Given the description of an element on the screen output the (x, y) to click on. 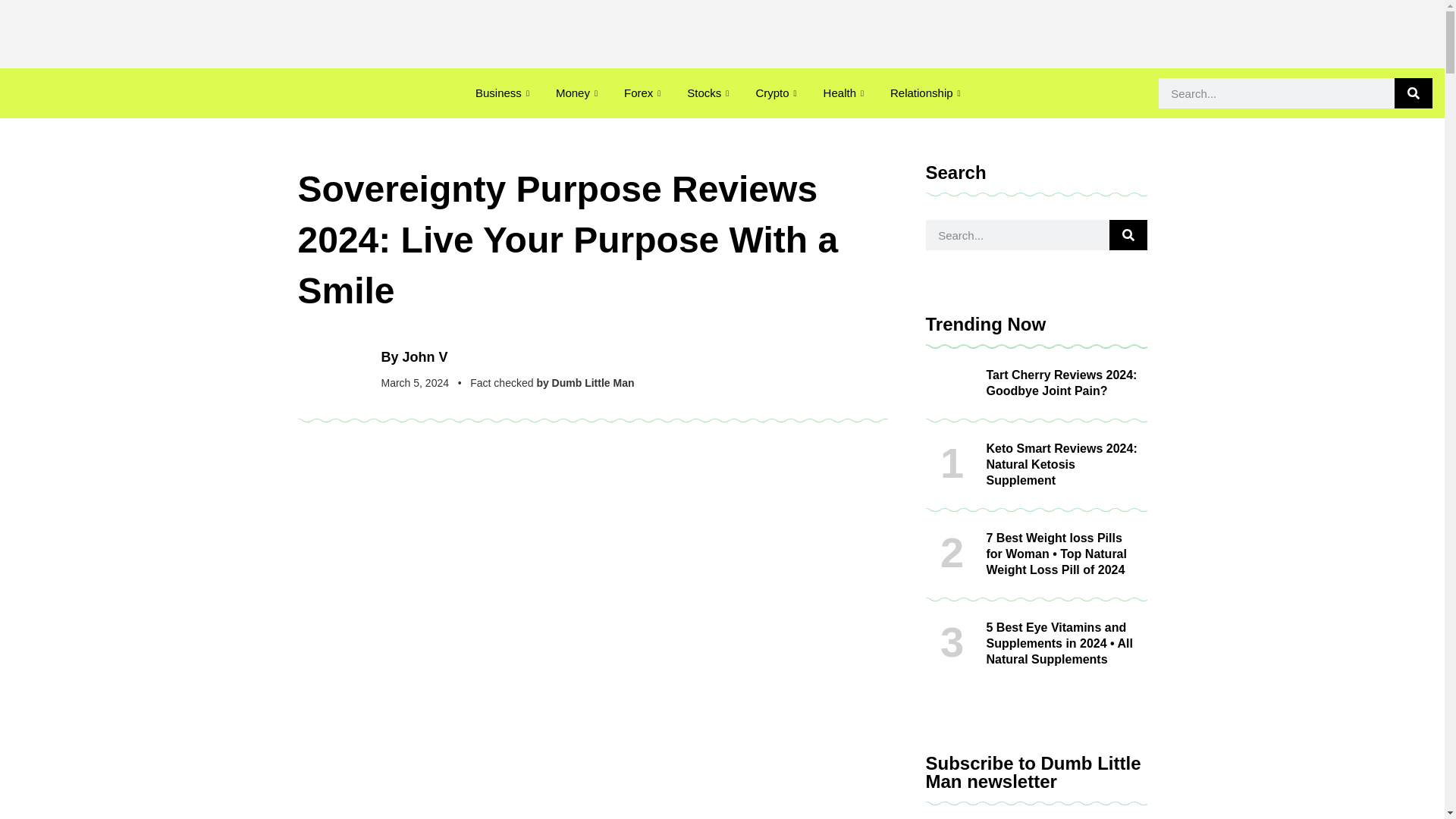
Business (504, 92)
